Given the description of an element on the screen output the (x, y) to click on. 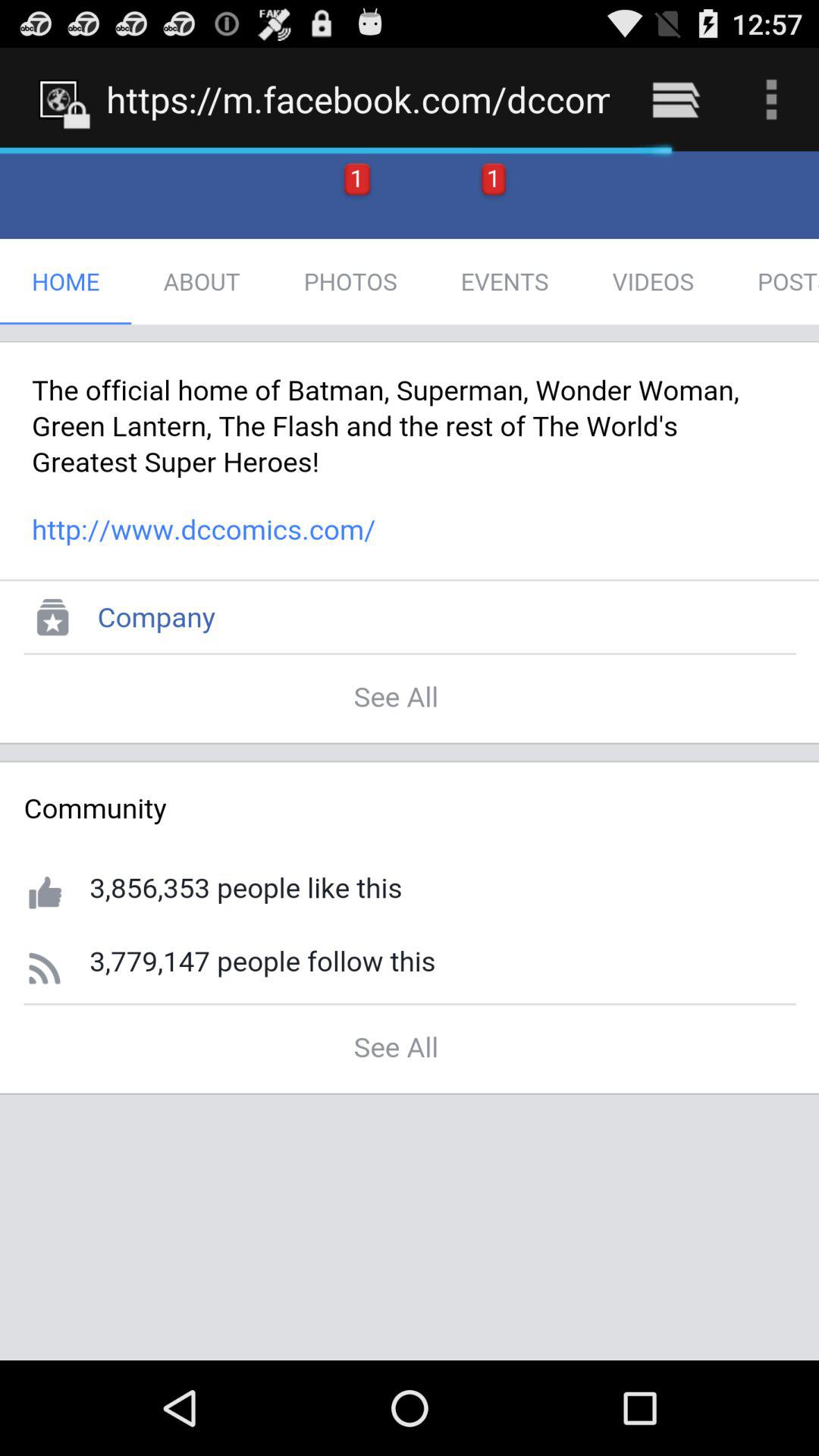
select the icon to the right of https m facebook icon (675, 99)
